Given the description of an element on the screen output the (x, y) to click on. 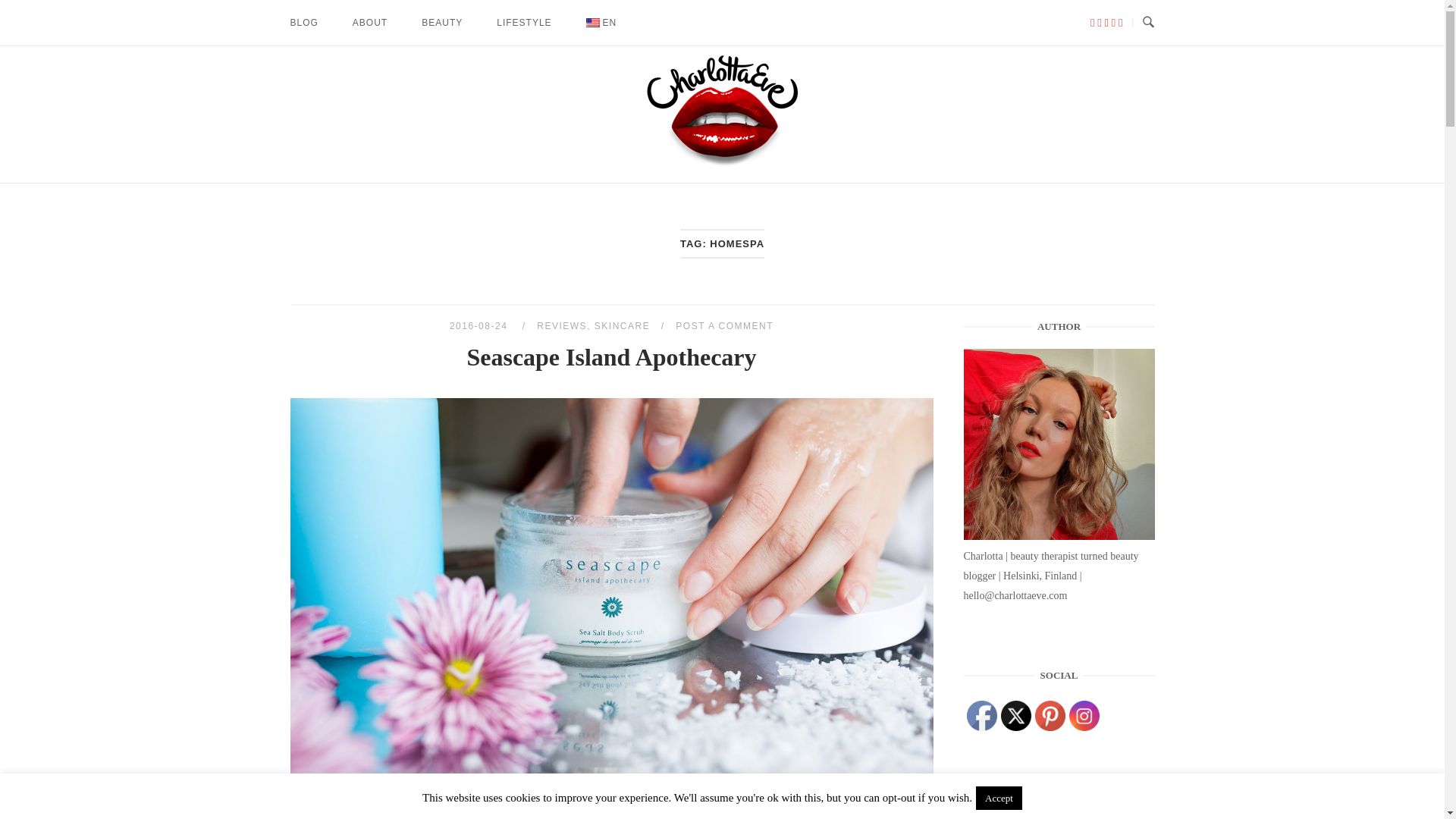
BEAUTY (442, 22)
2016-08-24 (480, 326)
SKINCARE (621, 326)
ABOUT (369, 22)
Seascape Island Apothecary (480, 326)
EN (601, 22)
REVIEWS (561, 326)
Pinterest (1050, 716)
BLOG (304, 22)
Seascape Island Apothecary (610, 357)
Home (722, 163)
LIFESTYLE (523, 22)
Twitter (1015, 716)
Facebook (981, 716)
Instagram (1083, 716)
